Given the description of an element on the screen output the (x, y) to click on. 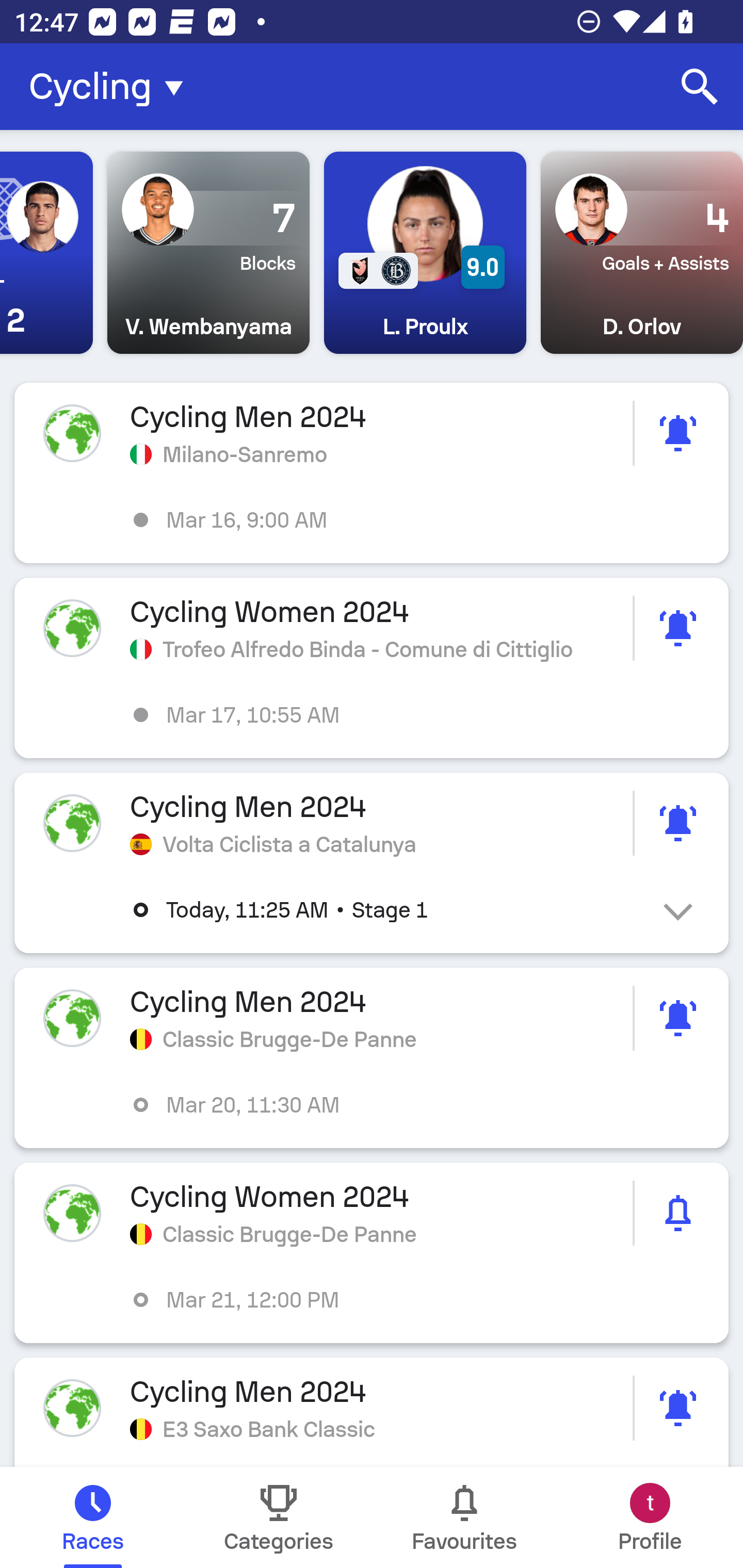
Cycling (111, 86)
Search (699, 86)
FT 0 - 2 (46, 253)
9.0 L. Proulx (424, 253)
Today, 11:25 AM • Stage 1 (385, 910)
Cycling Men 2024 E3 Saxo Bank Classic picture (371, 1412)
Categories (278, 1517)
Favourites (464, 1517)
Profile (650, 1517)
